Given the description of an element on the screen output the (x, y) to click on. 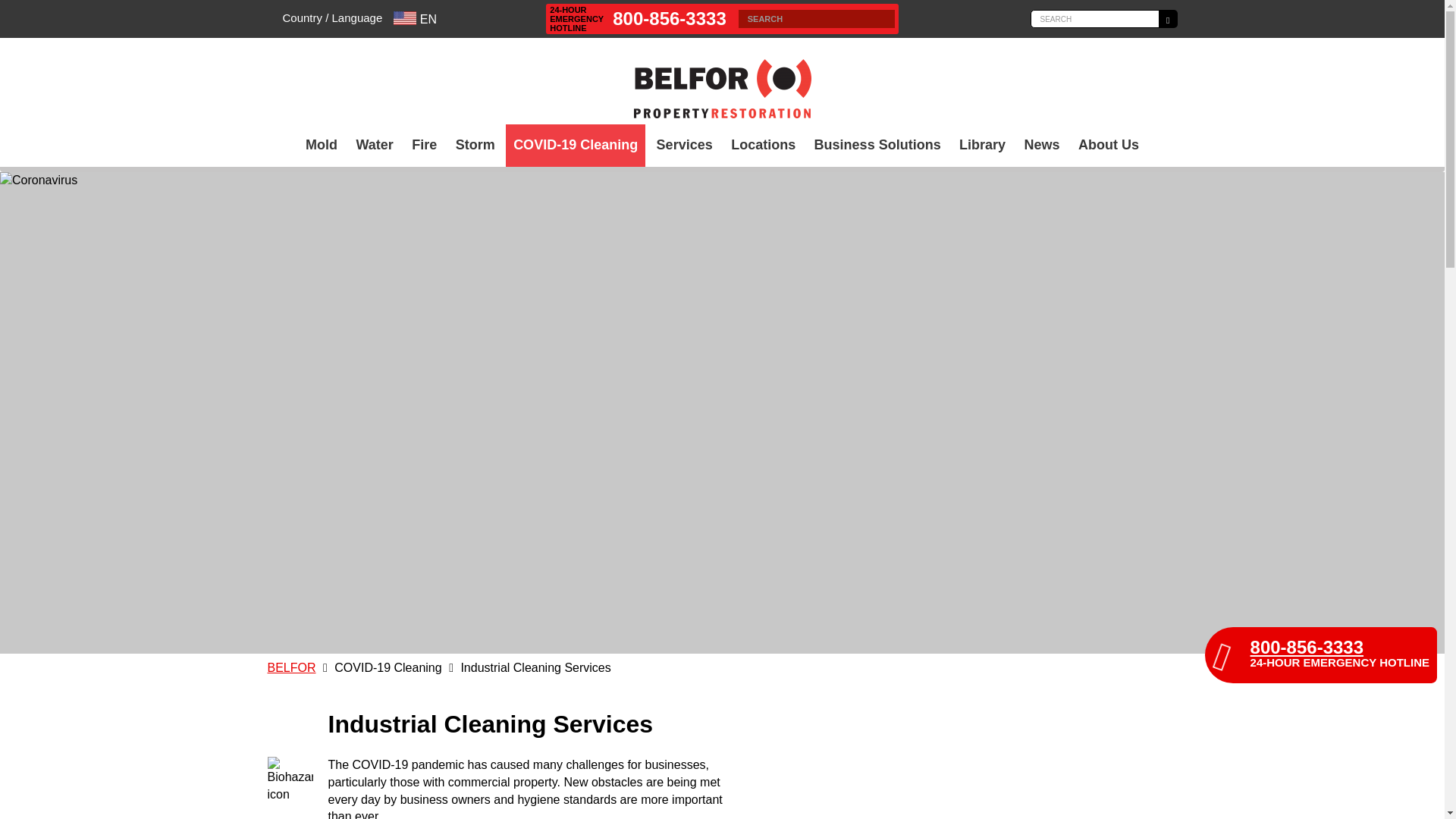
Water Damage (373, 145)
Search (1167, 18)
Enter the terms you wish to search for. (1093, 18)
Storm Damage (475, 145)
Fire Damage (424, 145)
Mold Damage (321, 145)
Enter an address to retrieve location. (816, 18)
800-856-3333 (668, 18)
SEARCH LOCATIONS (885, 18)
